Given the description of an element on the screen output the (x, y) to click on. 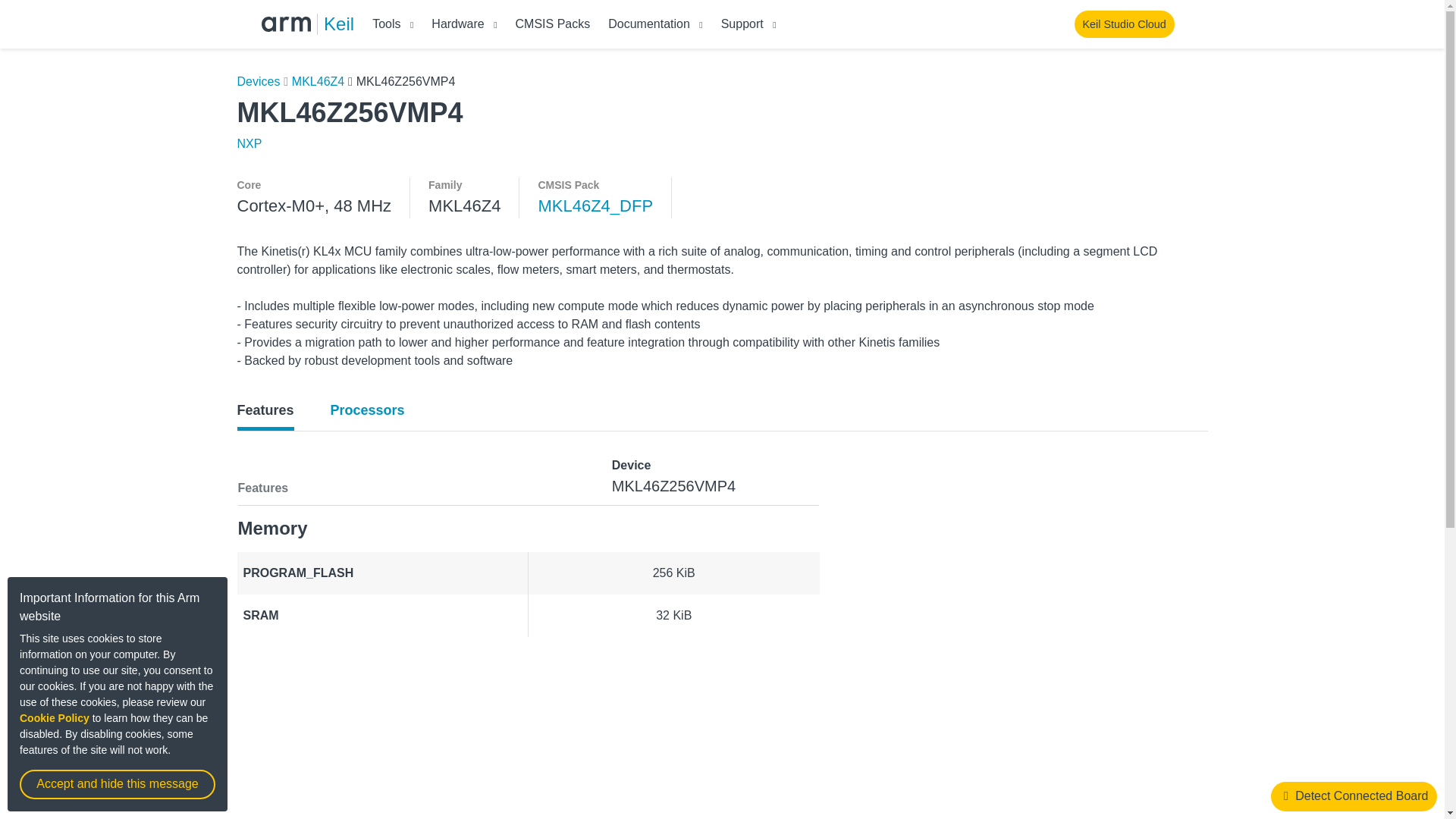
CMSIS Packs (553, 23)
Support (741, 23)
Tools (386, 23)
Documentation (649, 23)
Cookie Policy (54, 717)
Keil (338, 24)
Accept and hide this message (117, 784)
Keil Studio Cloud (1124, 23)
Hardware (456, 23)
Detect Connected Board (1354, 796)
